Given the description of an element on the screen output the (x, y) to click on. 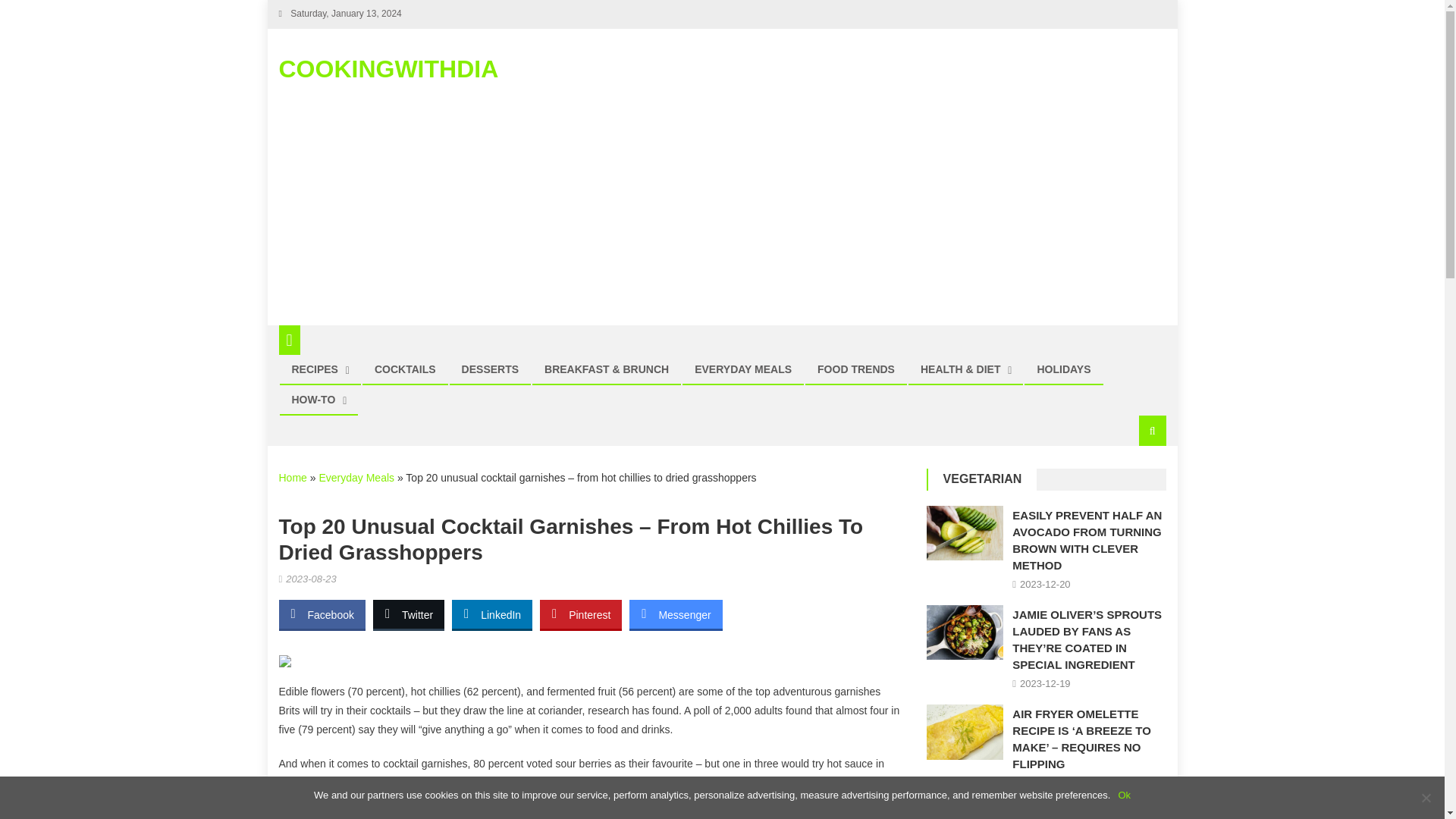
DESSERTS (489, 369)
RECIPES (315, 369)
Twitter (408, 613)
2023-08-23 (310, 578)
Facebook (322, 613)
Search (1133, 481)
Everyday Meals (356, 477)
EVERYDAY MEALS (742, 369)
HOW-TO (314, 399)
Advertisement (589, 813)
COOKINGWITHDIA (389, 68)
Home (293, 477)
HOLIDAYS (1063, 369)
